Given the description of an element on the screen output the (x, y) to click on. 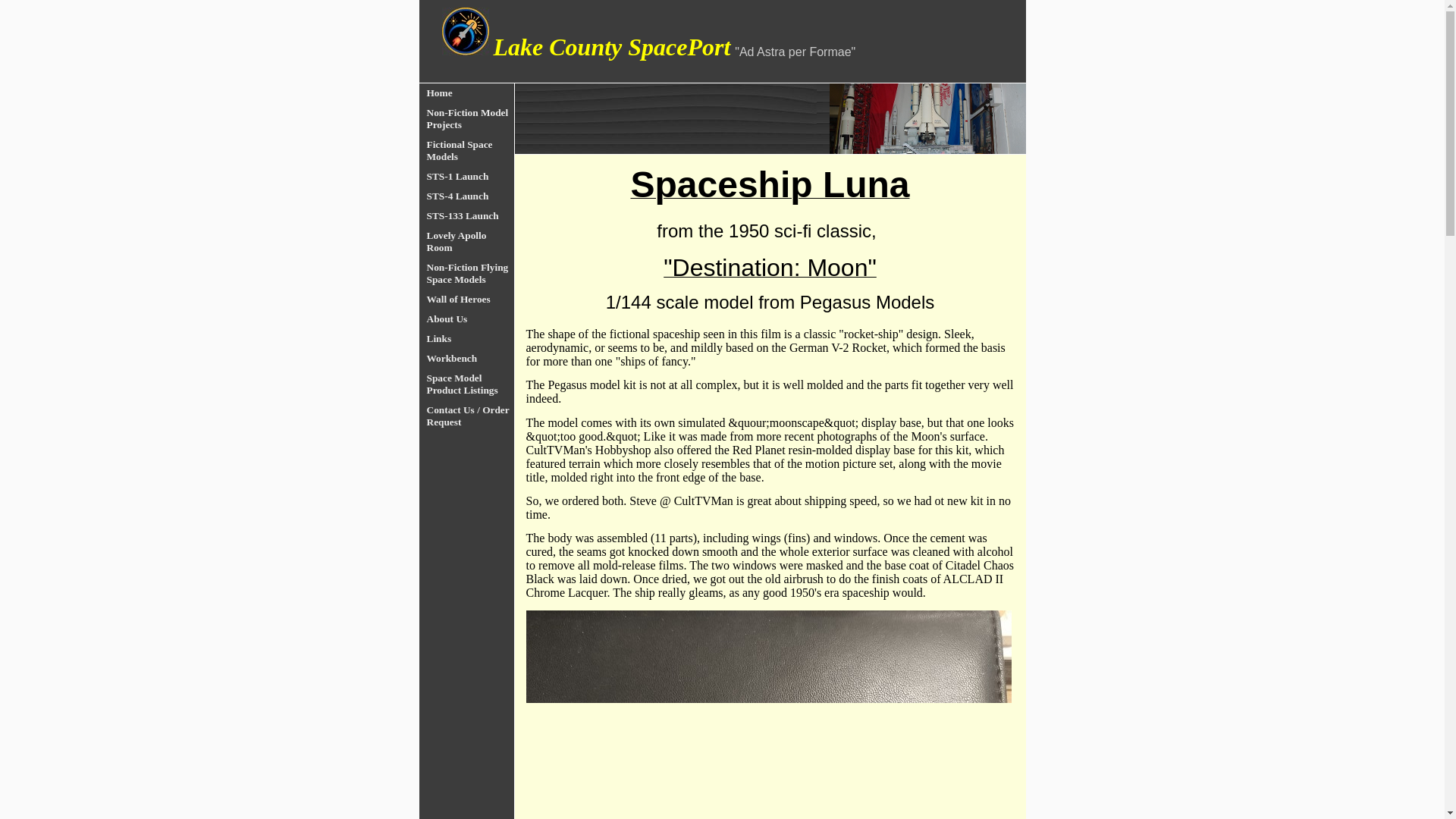
About Us (469, 318)
Home (469, 92)
Lovely Apollo Room (469, 241)
Wall of Heroes (469, 299)
STS-4 Launch (469, 196)
STS-1 Launch (469, 176)
Non-Fiction Flying Space Models (469, 273)
Links (469, 338)
STS-133 Launch (469, 215)
Non-Fiction Model Projects (469, 119)
